Given the description of an element on the screen output the (x, y) to click on. 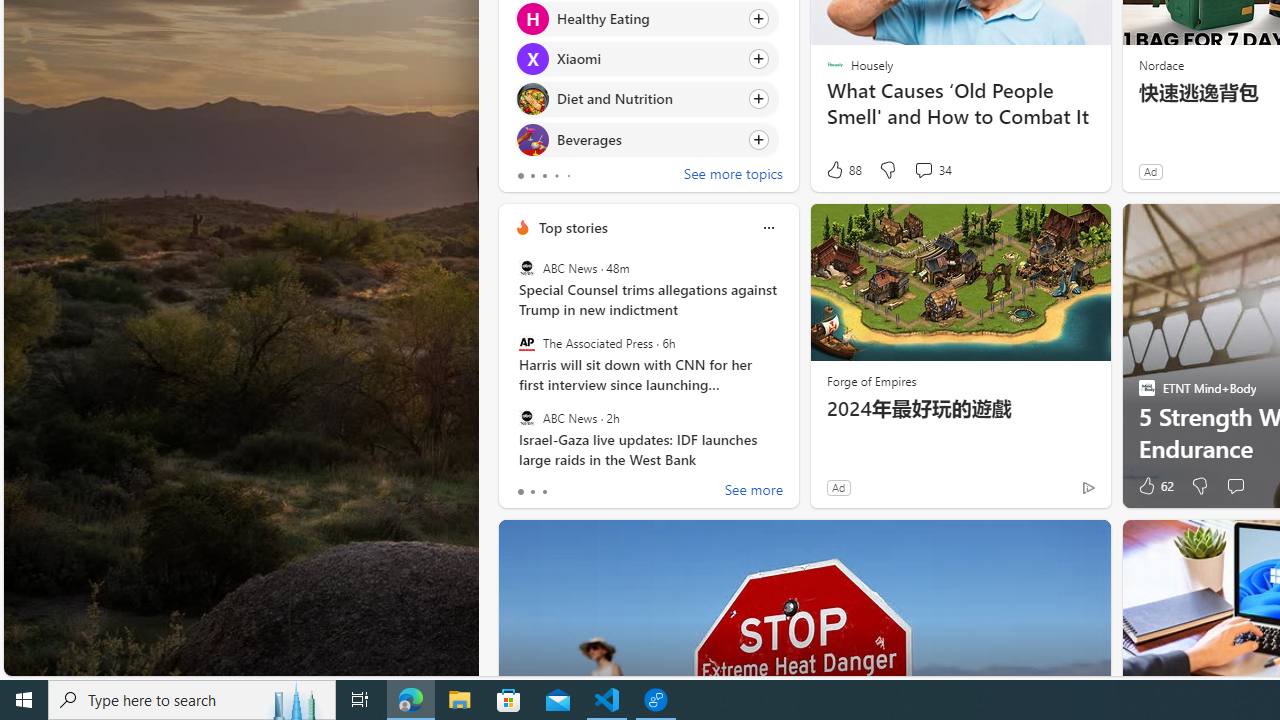
View comments 34 Comment (932, 170)
The Associated Press (526, 343)
Click to follow topic Healthy Eating (646, 18)
tab-4 (567, 175)
Forge of Empires (870, 380)
Click to follow topic Diet and Nutrition (646, 99)
Click to follow topic Xiaomi (646, 59)
tab-3 (556, 175)
